Given the description of an element on the screen output the (x, y) to click on. 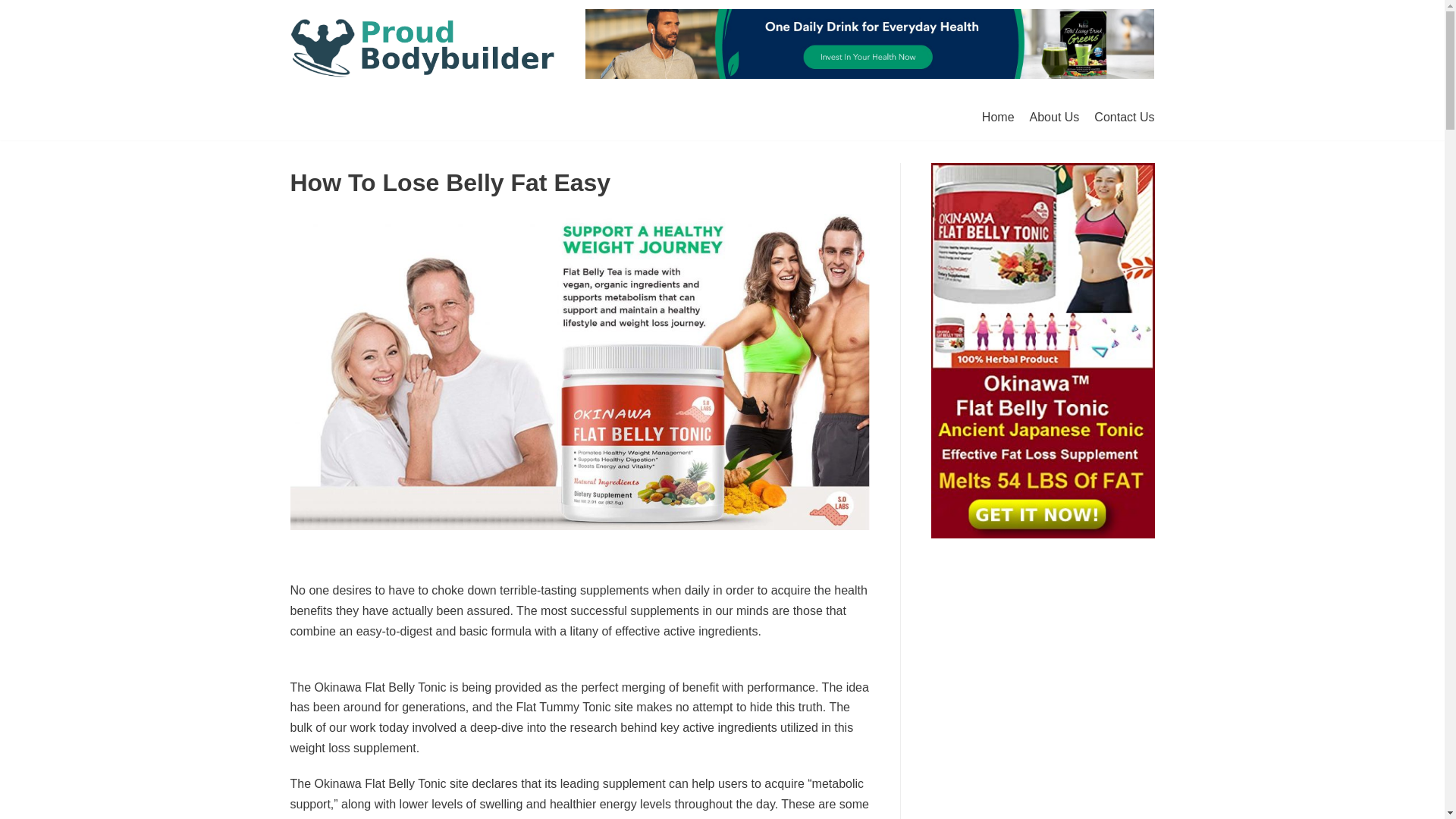
Proud Bodybuilder (421, 46)
Skip to content (15, 31)
Contact Us (1124, 117)
Home (997, 117)
About Us (1054, 117)
